Given the description of an element on the screen output the (x, y) to click on. 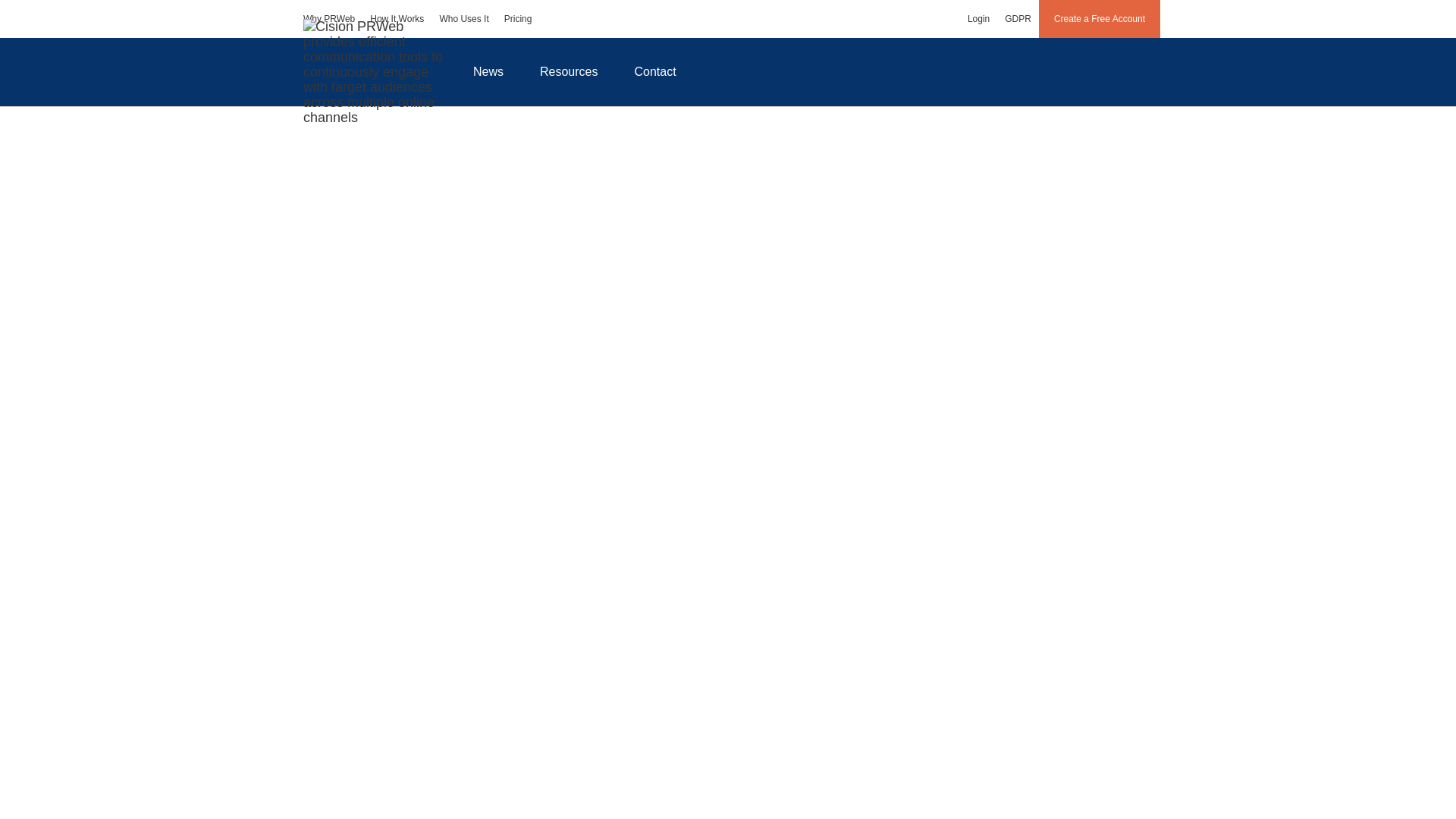
How It Works (396, 18)
GDPR (1018, 18)
Login (978, 18)
Who Uses It (463, 18)
Why PRWeb (328, 18)
Pricing (518, 18)
Contact (654, 71)
Create a Free Account (1099, 18)
News (487, 71)
Resources (568, 71)
